Given the description of an element on the screen output the (x, y) to click on. 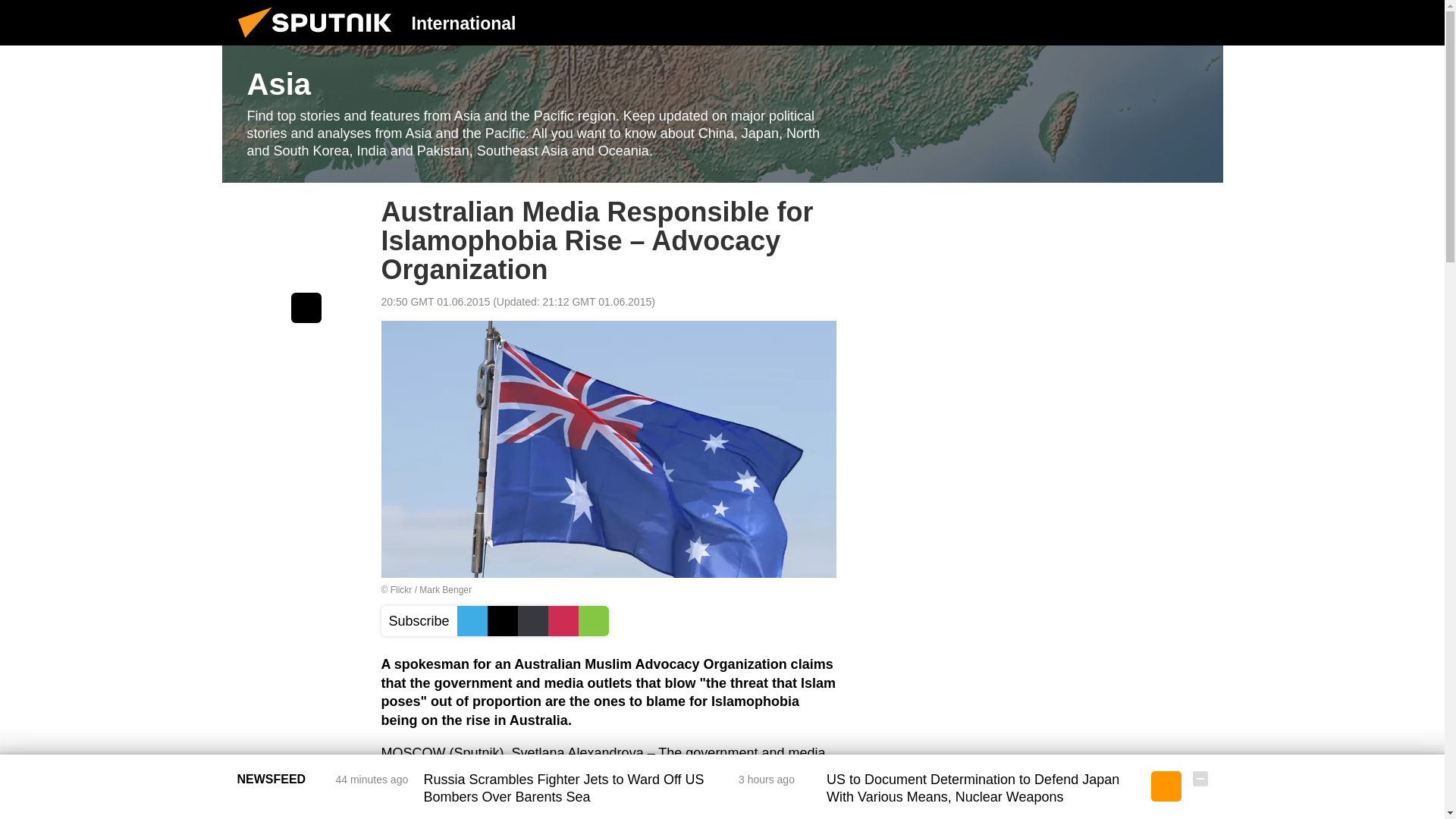
Authorization (1123, 22)
Chats (1199, 22)
Sputnik International (319, 41)
